Given the description of an element on the screen output the (x, y) to click on. 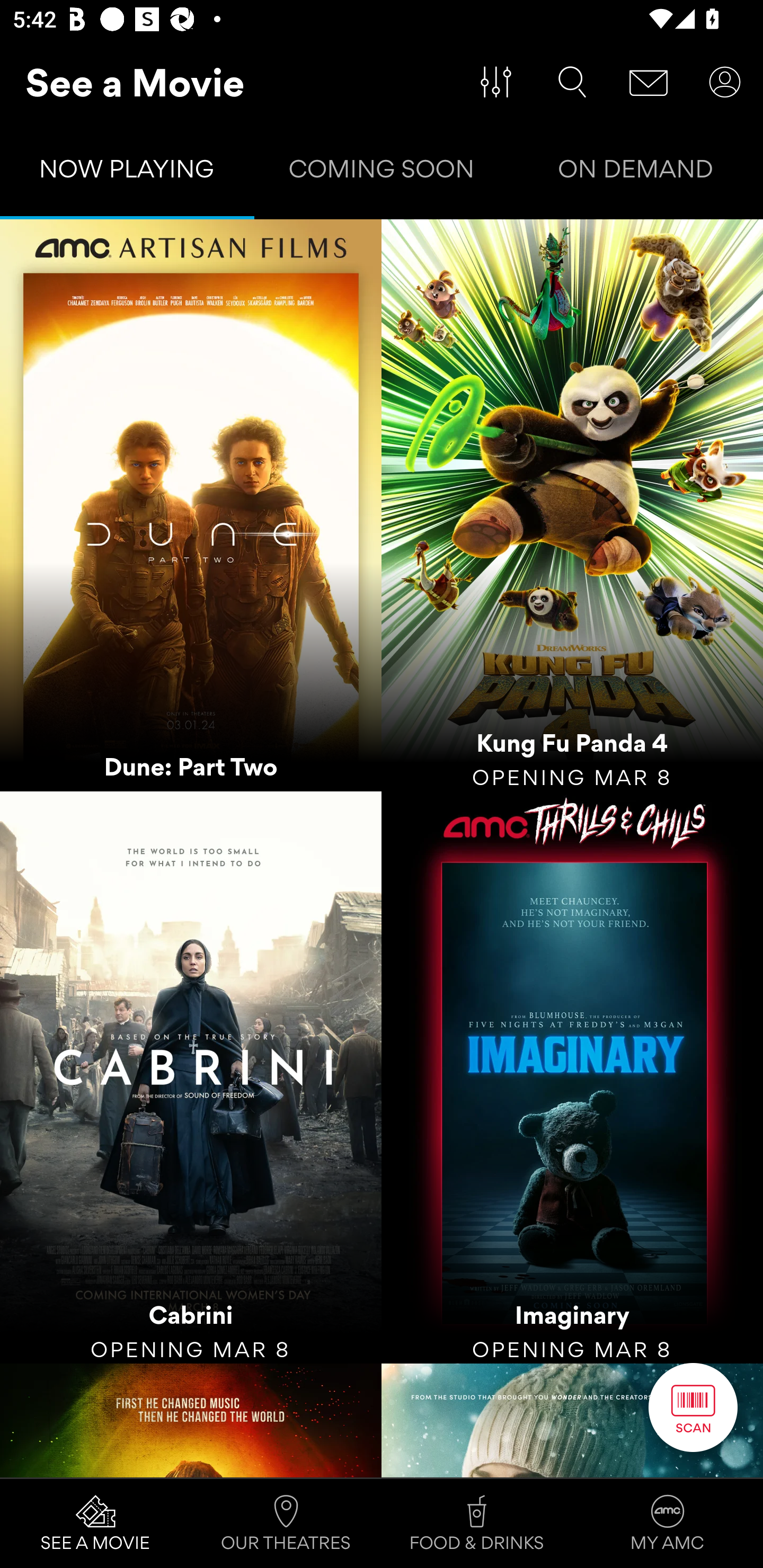
Filter Movies (495, 82)
Search (572, 82)
Message Center (648, 82)
User Account (724, 82)
NOW PLAYING
Tab 1 of 3 (127, 173)
COMING SOON
Tab 2 of 3 (381, 173)
ON DEMAND
Tab 3 of 3 (635, 173)
Dune: Part Two (190, 505)
Kung Fu Panda 4
OPENING MAR 8 (572, 505)
Cabrini
OPENING MAR 8 (190, 1077)
Imaginary
OPENING MAR 8 (572, 1077)
Scan Button (692, 1406)
SEE A MOVIE
Tab 1 of 4 (95, 1523)
OUR THEATRES
Tab 2 of 4 (285, 1523)
FOOD & DRINKS
Tab 3 of 4 (476, 1523)
MY AMC
Tab 4 of 4 (667, 1523)
